Given the description of an element on the screen output the (x, y) to click on. 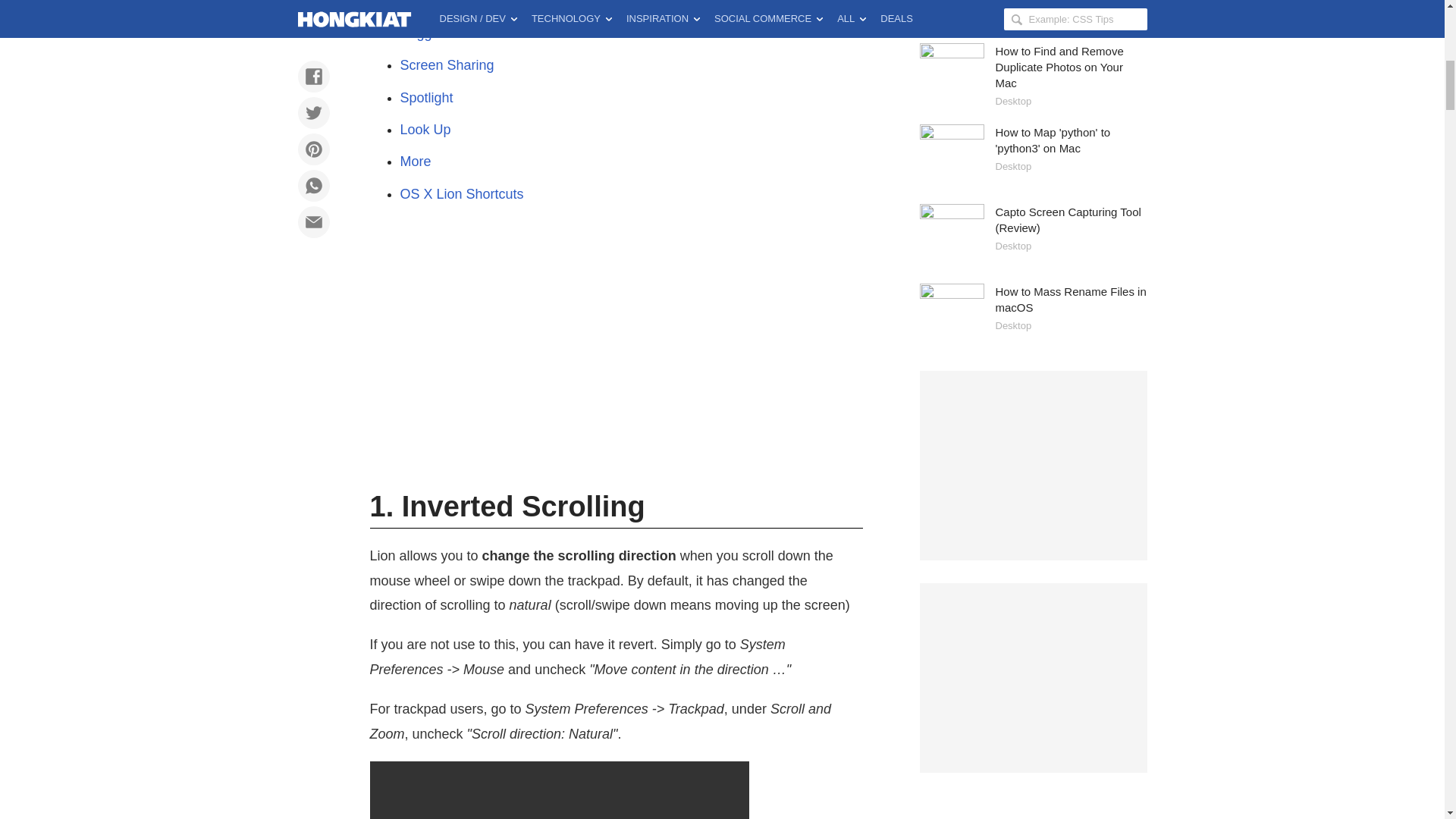
Screen Sharing (447, 64)
Suggested words (452, 32)
OS X Lion Shortcuts (462, 193)
More (415, 160)
Quick Preview (443, 4)
Spotlight (426, 97)
Look Up (425, 129)
